Given the description of an element on the screen output the (x, y) to click on. 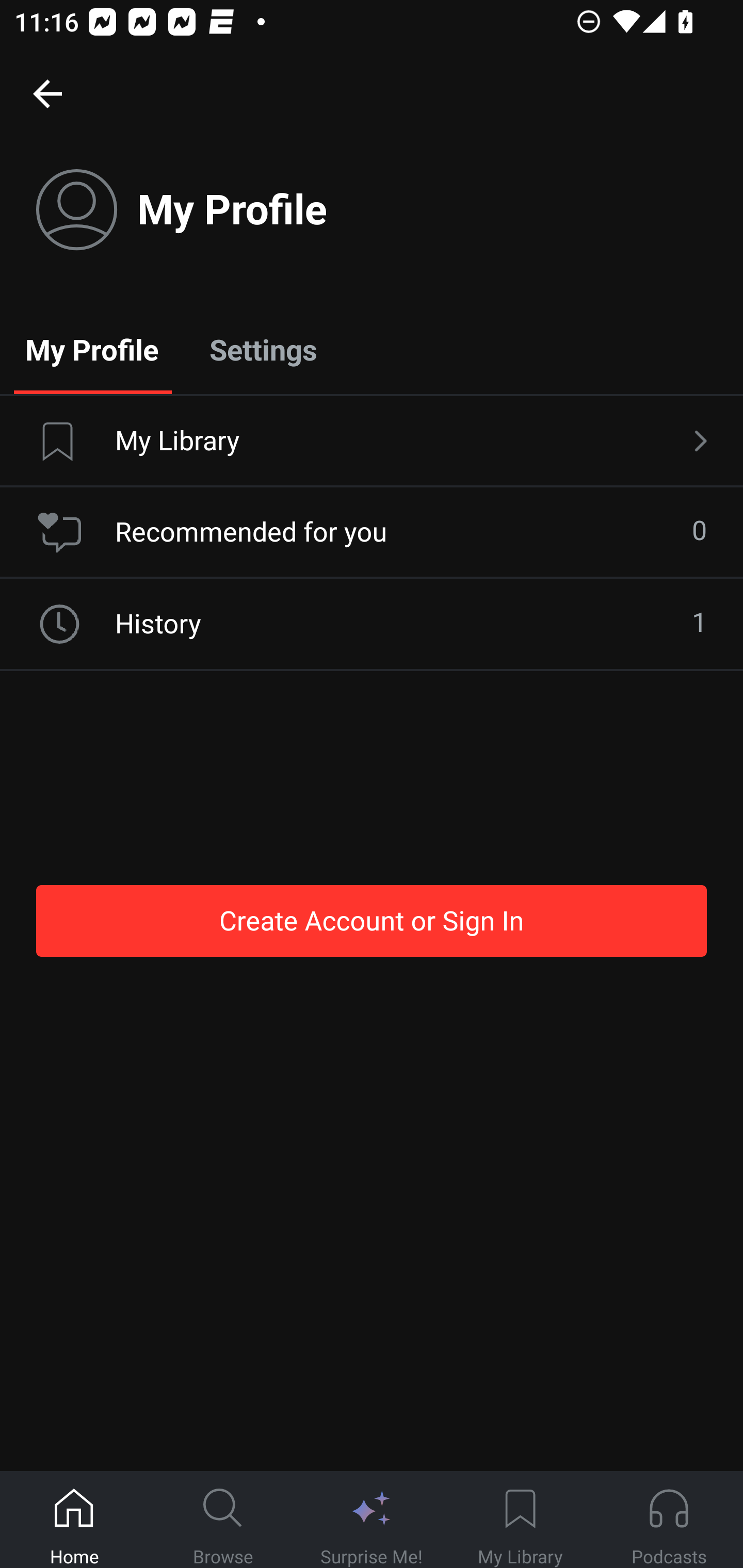
Home, back (47, 92)
My Profile (92, 348)
Settings (263, 348)
My Library (371, 441)
Recommended for you 0 (371, 532)
History 1 (371, 623)
Create Account or Sign In (371, 920)
Home (74, 1520)
Browse (222, 1520)
Surprise Me! (371, 1520)
My Library (519, 1520)
Podcasts (668, 1520)
